Given the description of an element on the screen output the (x, y) to click on. 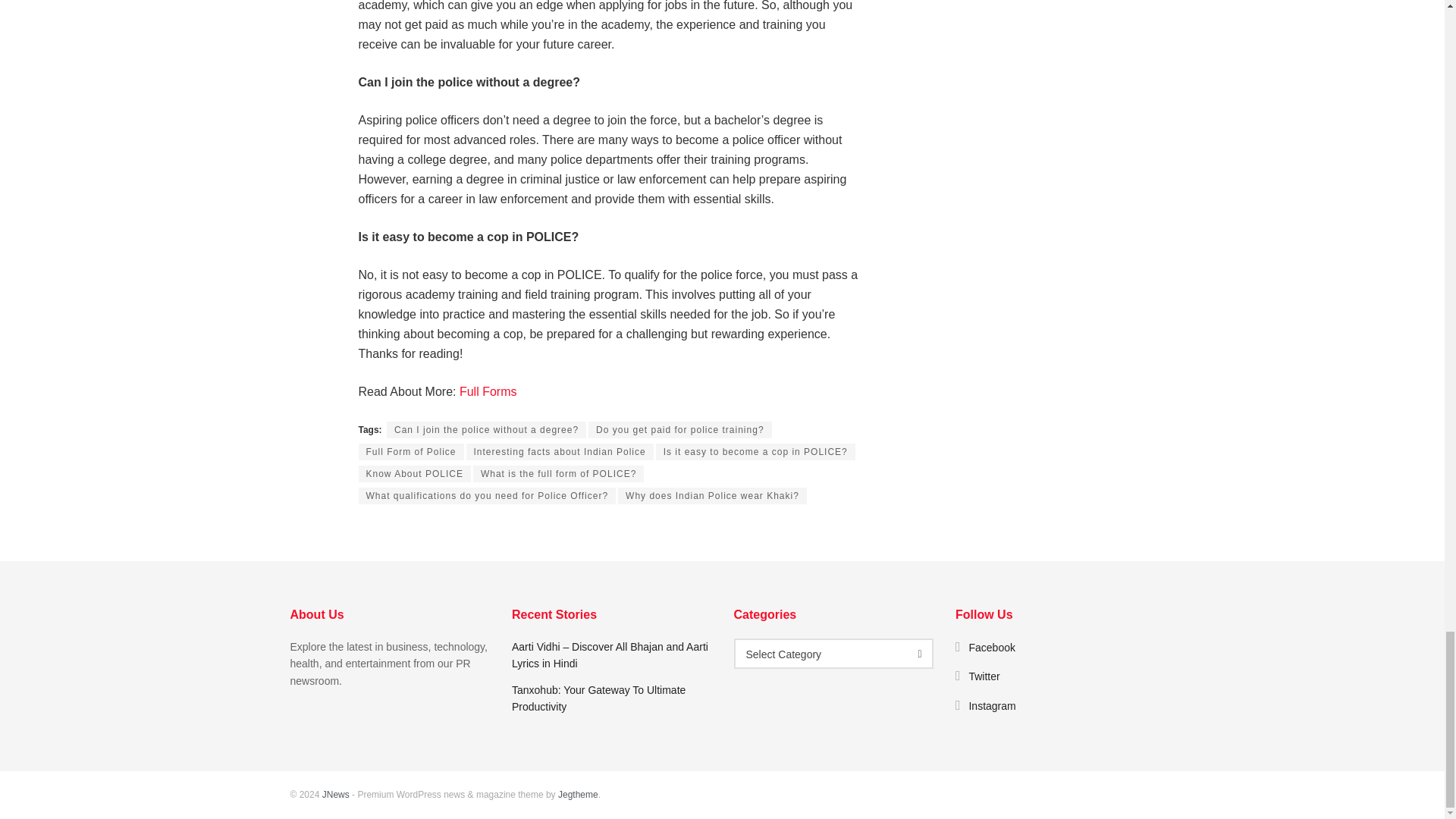
Jegtheme (577, 794)
